Given the description of an element on the screen output the (x, y) to click on. 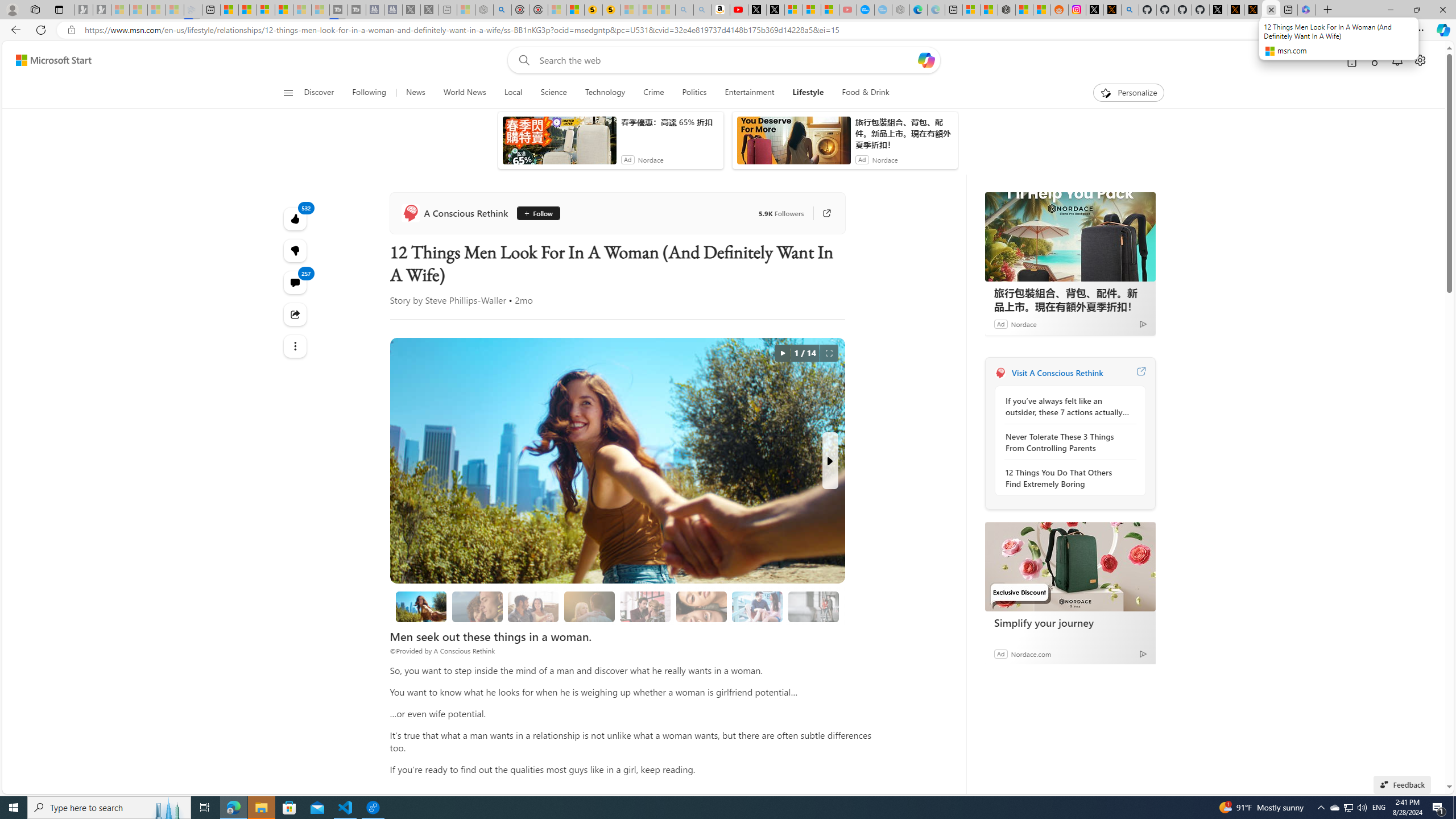
Class: progress (813, 604)
Log in to X / X (1094, 9)
View comments 257 Comment (295, 282)
